Given the description of an element on the screen output the (x, y) to click on. 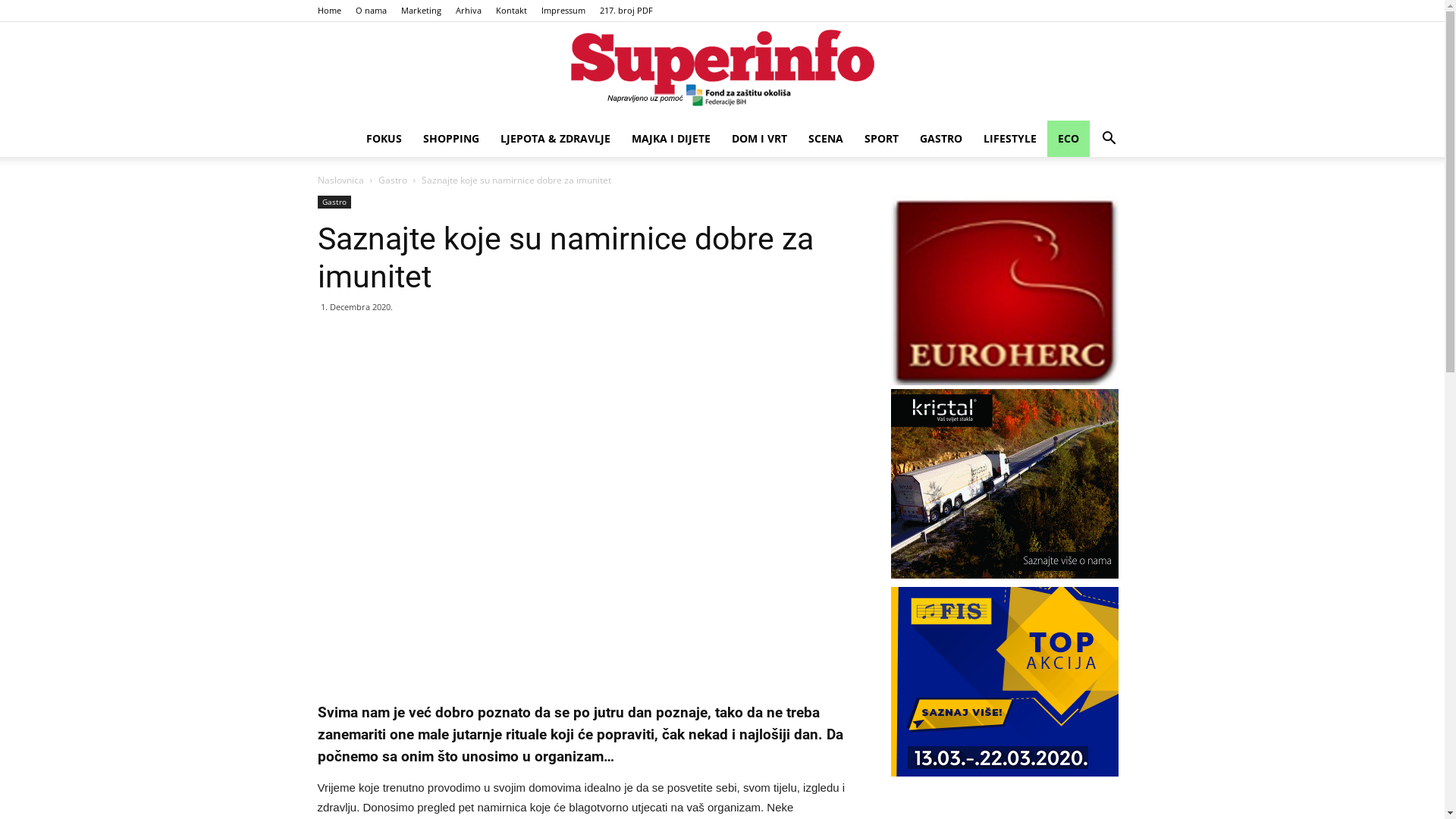
Gastro Element type: text (391, 179)
O nama Element type: text (369, 9)
Home Element type: text (328, 9)
FOKUS Element type: text (382, 138)
Arhiva Element type: text (467, 9)
LIFESTYLE Element type: text (1009, 138)
SPORT Element type: text (881, 138)
Kontakt Element type: text (511, 9)
Gastro Element type: text (333, 201)
dobar-imunitet-slika-696x464 Element type: hover (580, 505)
SCENA Element type: text (825, 138)
ECO Element type: text (1067, 138)
SHOPPING Element type: text (450, 138)
Marketing Element type: text (420, 9)
MAJKA I DIJETE Element type: text (670, 138)
Impressum Element type: text (563, 9)
LJEPOTA & ZDRAVLJE Element type: text (555, 138)
Naslovnica Element type: text (339, 179)
217. broj PDF Element type: text (625, 9)
Superinfo Element type: text (722, 72)
DOM I VRT Element type: text (758, 138)
GASTRO Element type: text (940, 138)
